Given the description of an element on the screen output the (x, y) to click on. 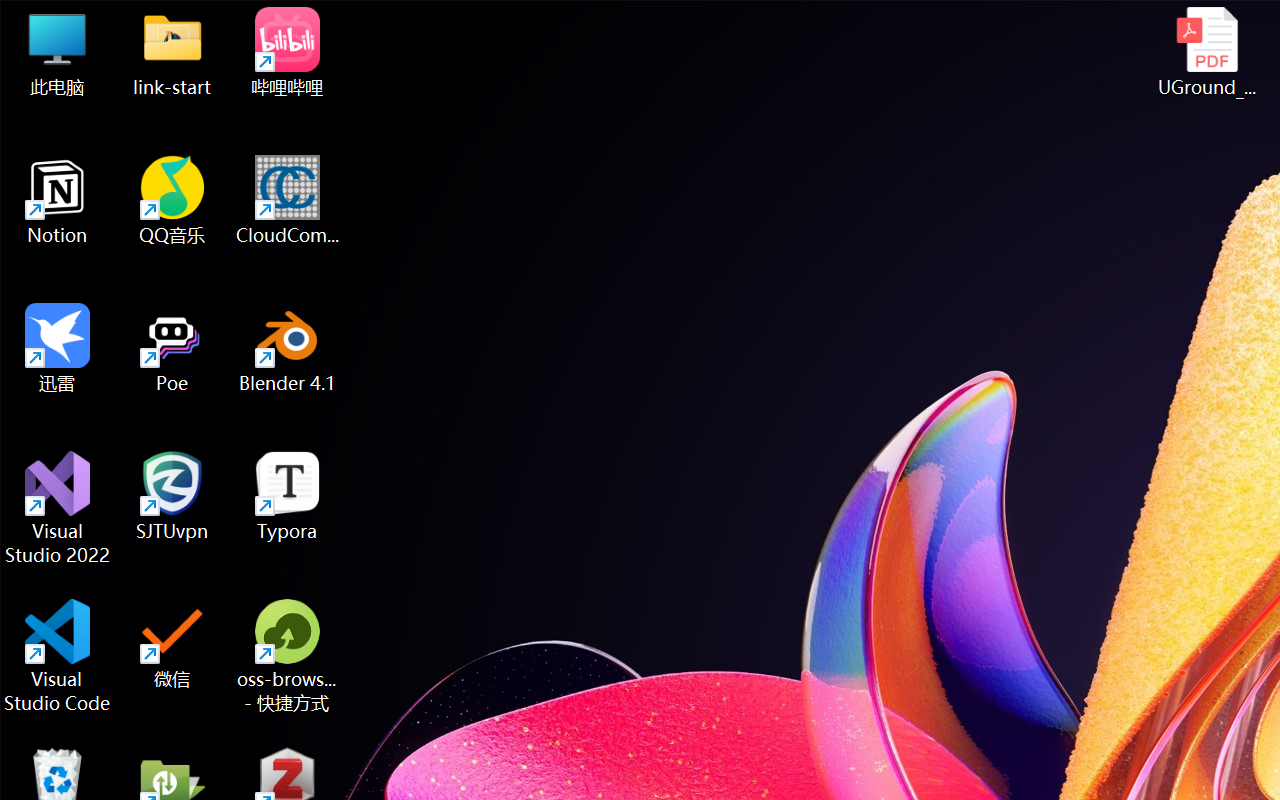
PDD Holdings Inc - ADR (PDD) Price & News - Google Finance (523, 22)
Partners (152, 391)
January 15, 2024 (977, 770)
Currencies - Google Finance (374, 22)
Privacy Checkup (747, 22)
Data transfer frameworks (152, 290)
Google Workspace Admin Community (74, 22)
Terms of Service (326, 183)
Sign in - Google Accounts (598, 22)
